Given the description of an element on the screen output the (x, y) to click on. 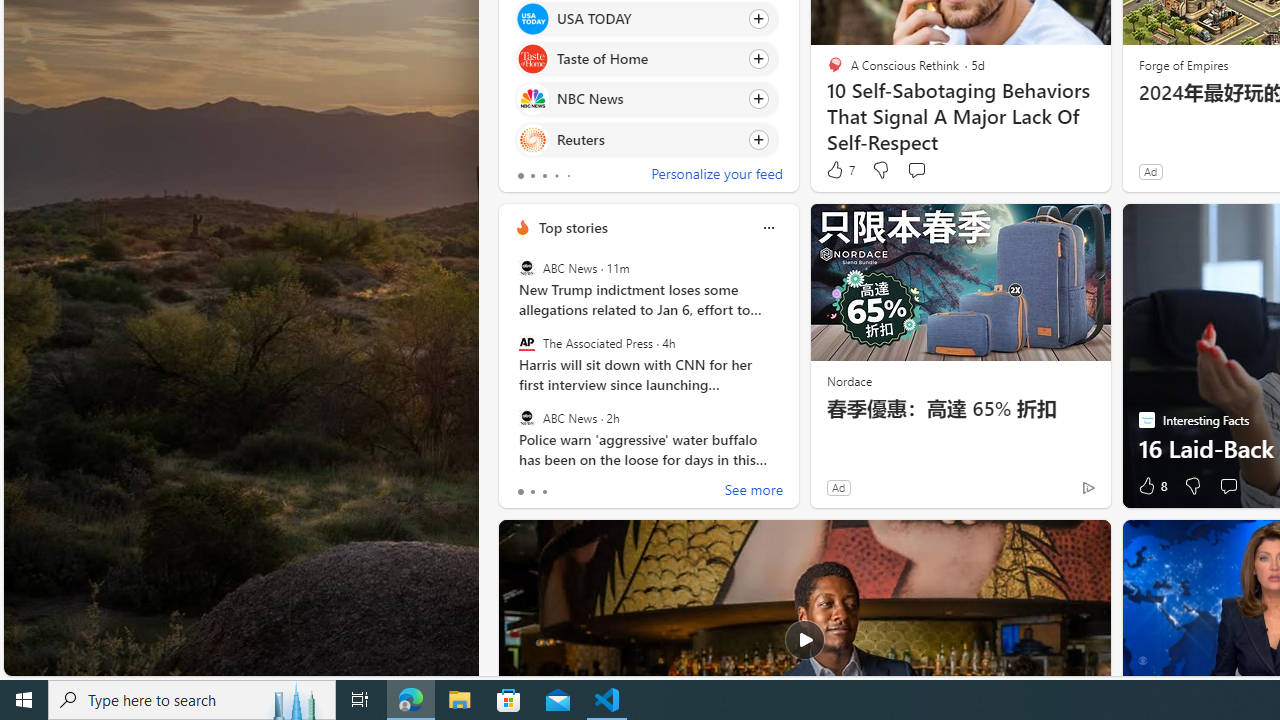
USA TODAY (532, 18)
Reuters (532, 139)
Dislike (1191, 485)
NBC News (532, 98)
next (788, 355)
tab-1 (532, 491)
Personalize your feed (716, 175)
See more (753, 491)
7 Like (839, 170)
Class: icon-img (768, 228)
Forge of Empires (1182, 64)
8 Like (1151, 485)
tab-0 (520, 491)
